Given the description of an element on the screen output the (x, y) to click on. 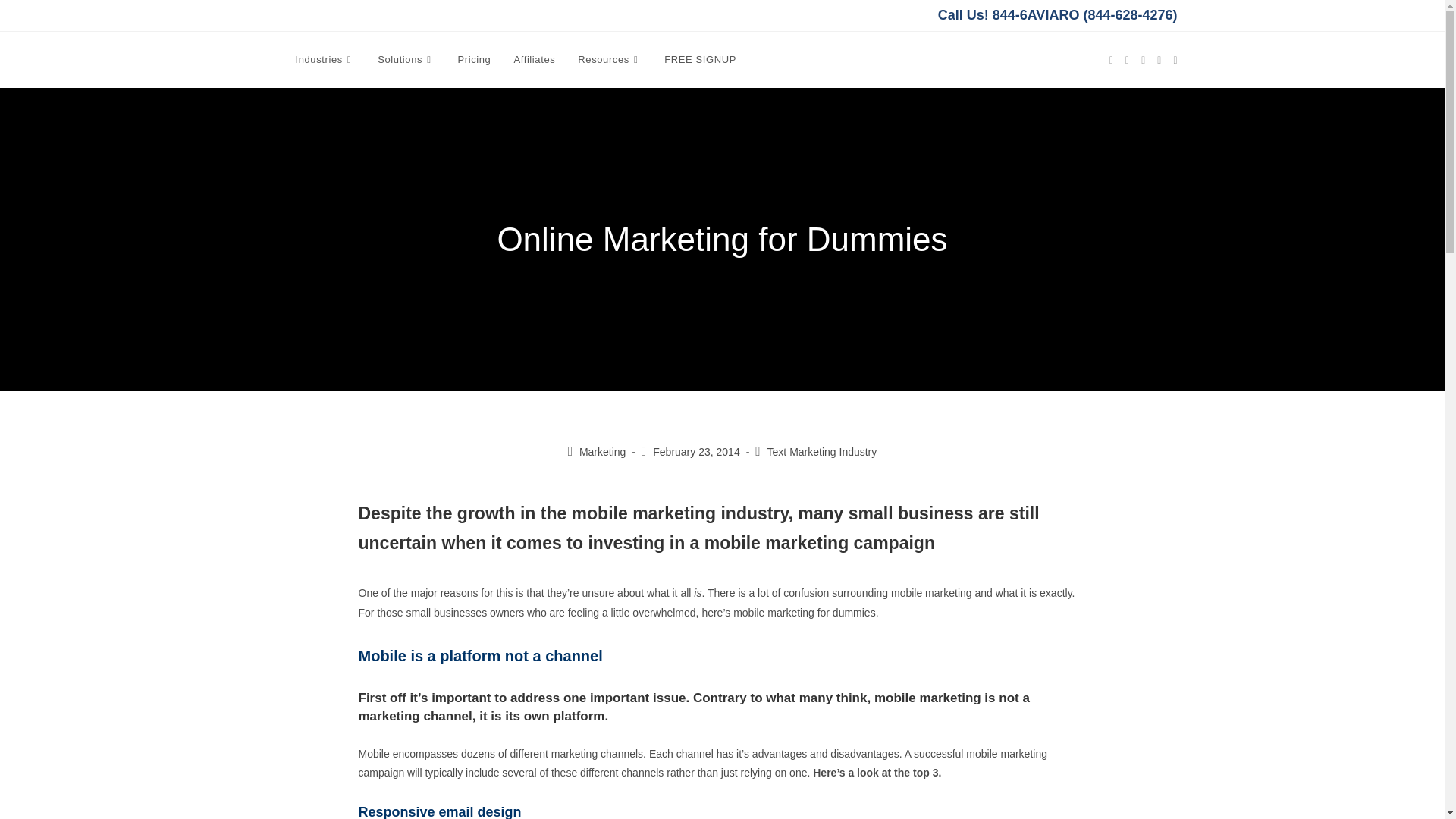
Posts by Marketing (602, 451)
Resources (609, 59)
844-628-4276 (1129, 14)
844-6AVIARO (1036, 14)
Industries (324, 59)
Solutions (405, 59)
Pricing (473, 59)
FREE SIGNUP (700, 59)
Affiliates (534, 59)
